Given the description of an element on the screen output the (x, y) to click on. 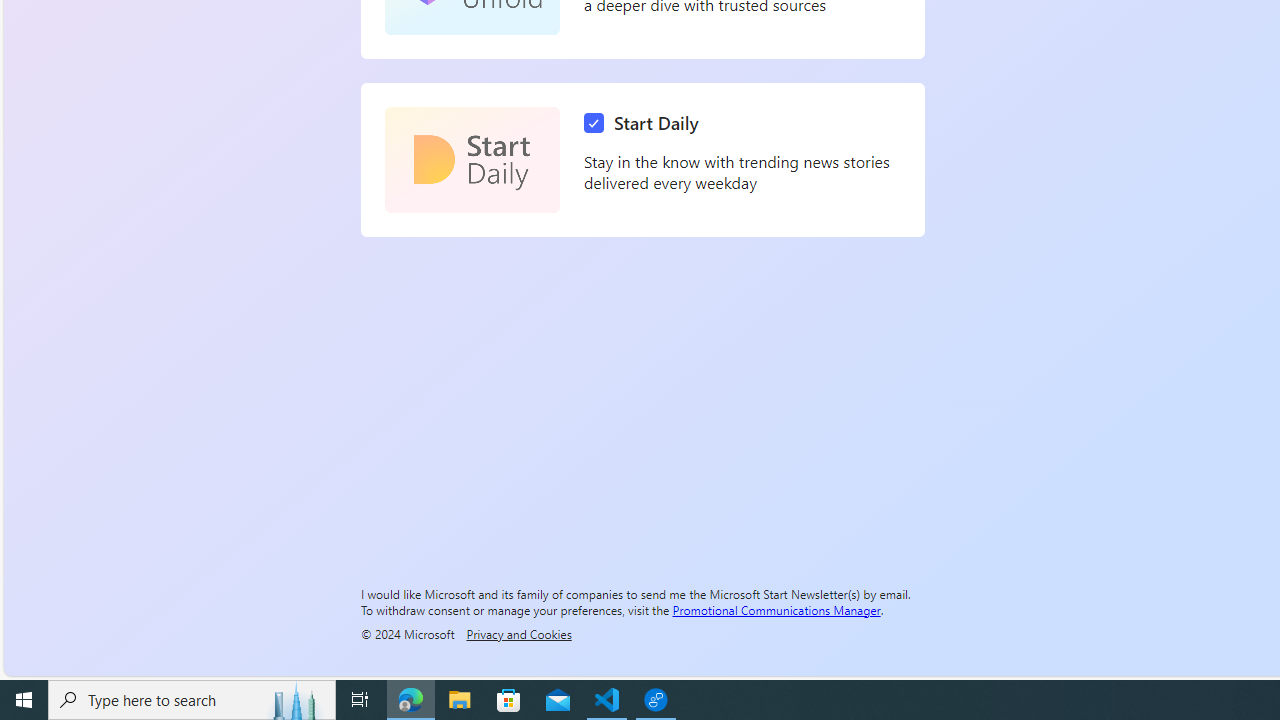
Start Daily (472, 160)
Start Daily (645, 123)
Privacy and Cookies (518, 633)
Promotional Communications Manager (776, 609)
